Given the description of an element on the screen output the (x, y) to click on. 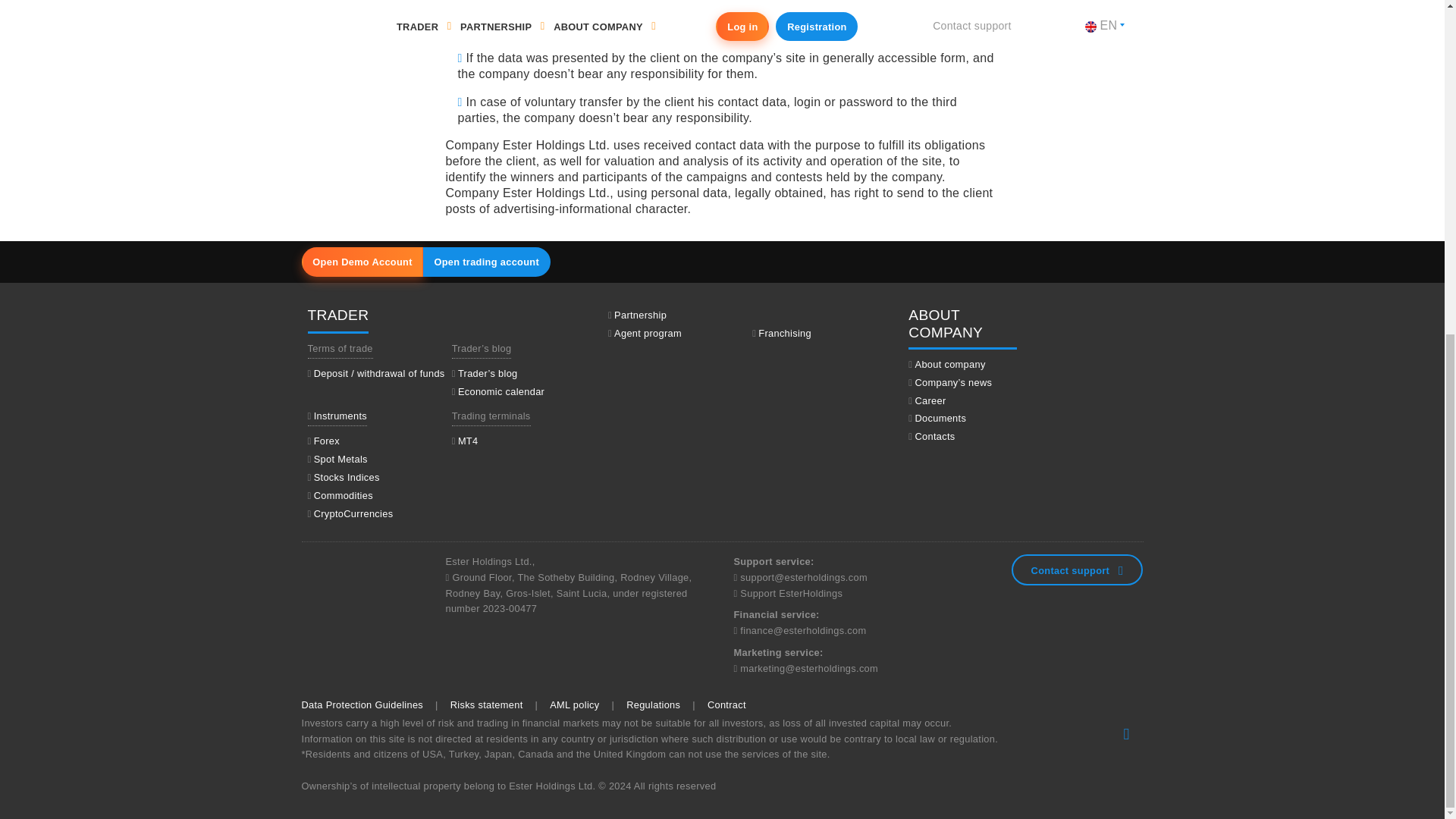
TRADER (338, 320)
Open trading account (486, 261)
Open Demo Account (362, 261)
Terms of trade (339, 348)
